Given the description of an element on the screen output the (x, y) to click on. 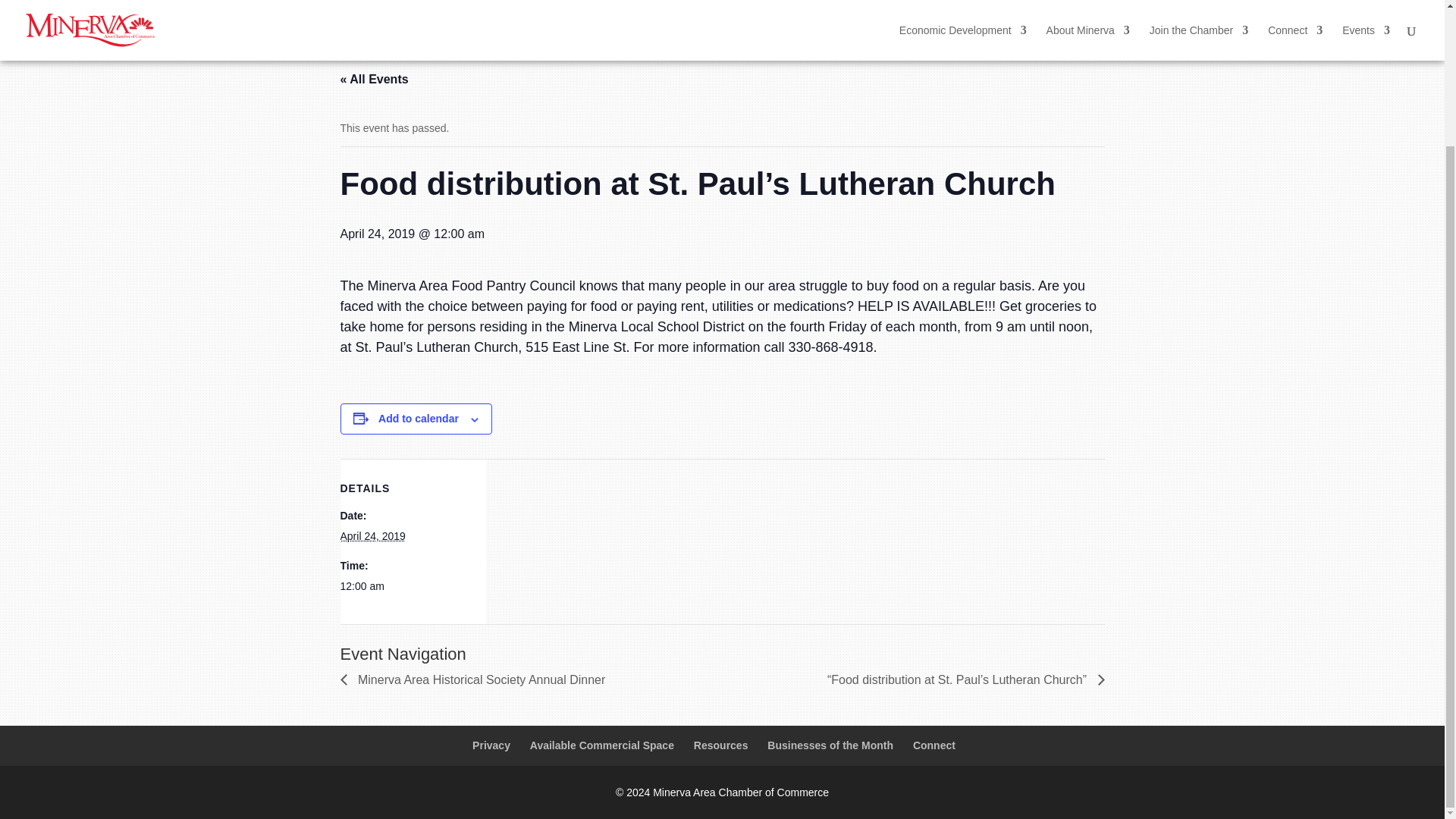
Submit the details on this form. (1004, 52)
2019-04-24 (403, 587)
2019-04-24 (371, 535)
Add to calendar (418, 418)
